Given the description of an element on the screen output the (x, y) to click on. 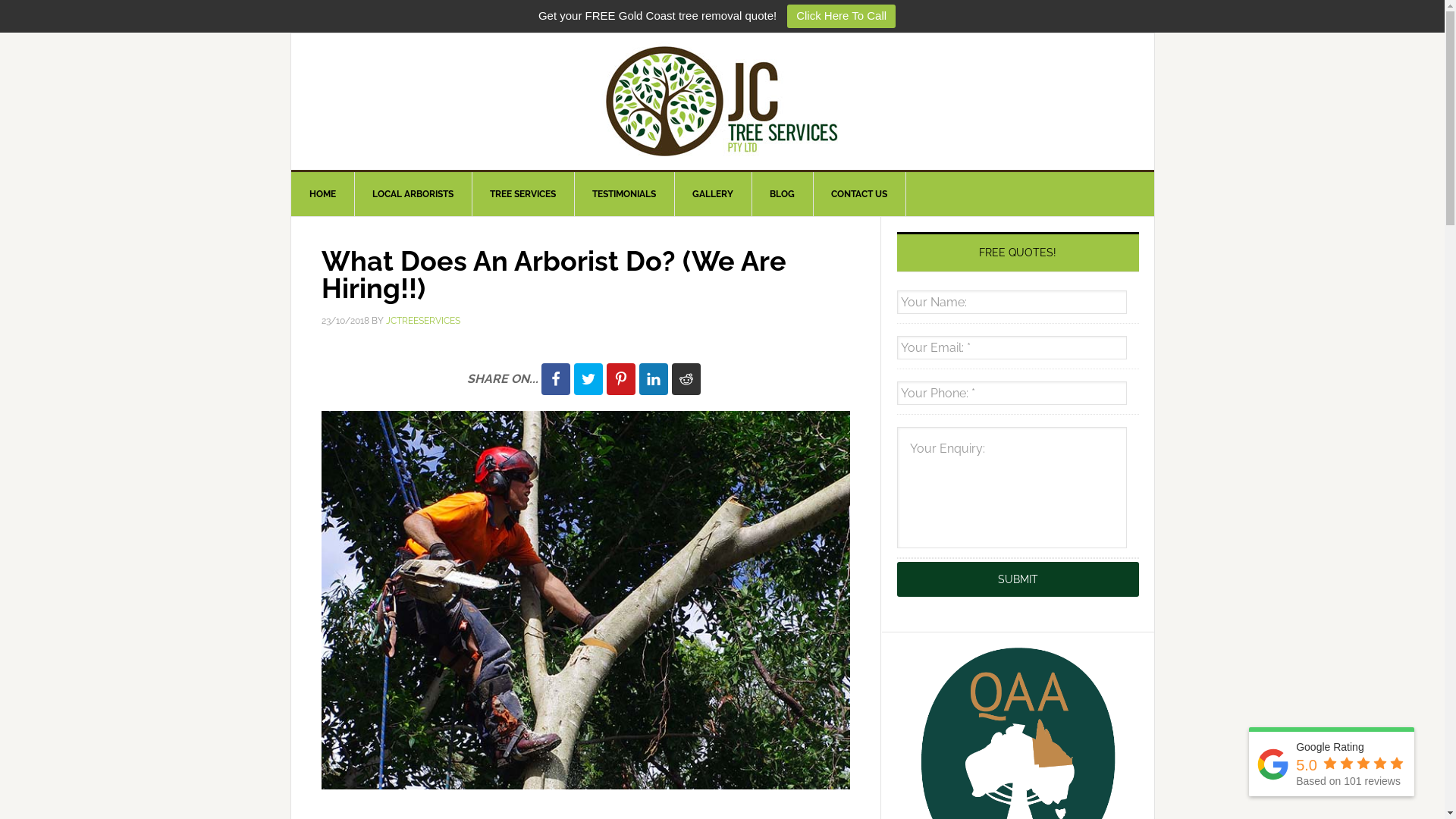
CONTACT US Element type: text (859, 194)
TESTIMONIALS Element type: text (623, 194)
Share on Reddit Element type: hover (685, 378)
BLOG Element type: text (781, 194)
TREE SERVICES Element type: text (522, 194)
Share on Pinterest Element type: hover (620, 378)
JC TREE SERVICES Element type: text (722, 101)
LOCAL ARBORISTS Element type: text (412, 194)
Share on Twitter Element type: hover (587, 378)
Click Here To Call Element type: text (841, 16)
GALLERY Element type: text (712, 194)
JCTREESERVICES Element type: text (422, 320)
Share on Facebook Element type: hover (555, 378)
Share on LinkedIn Element type: hover (652, 378)
Submit Element type: text (1017, 578)
HOME Element type: text (322, 194)
